Given the description of an element on the screen output the (x, y) to click on. 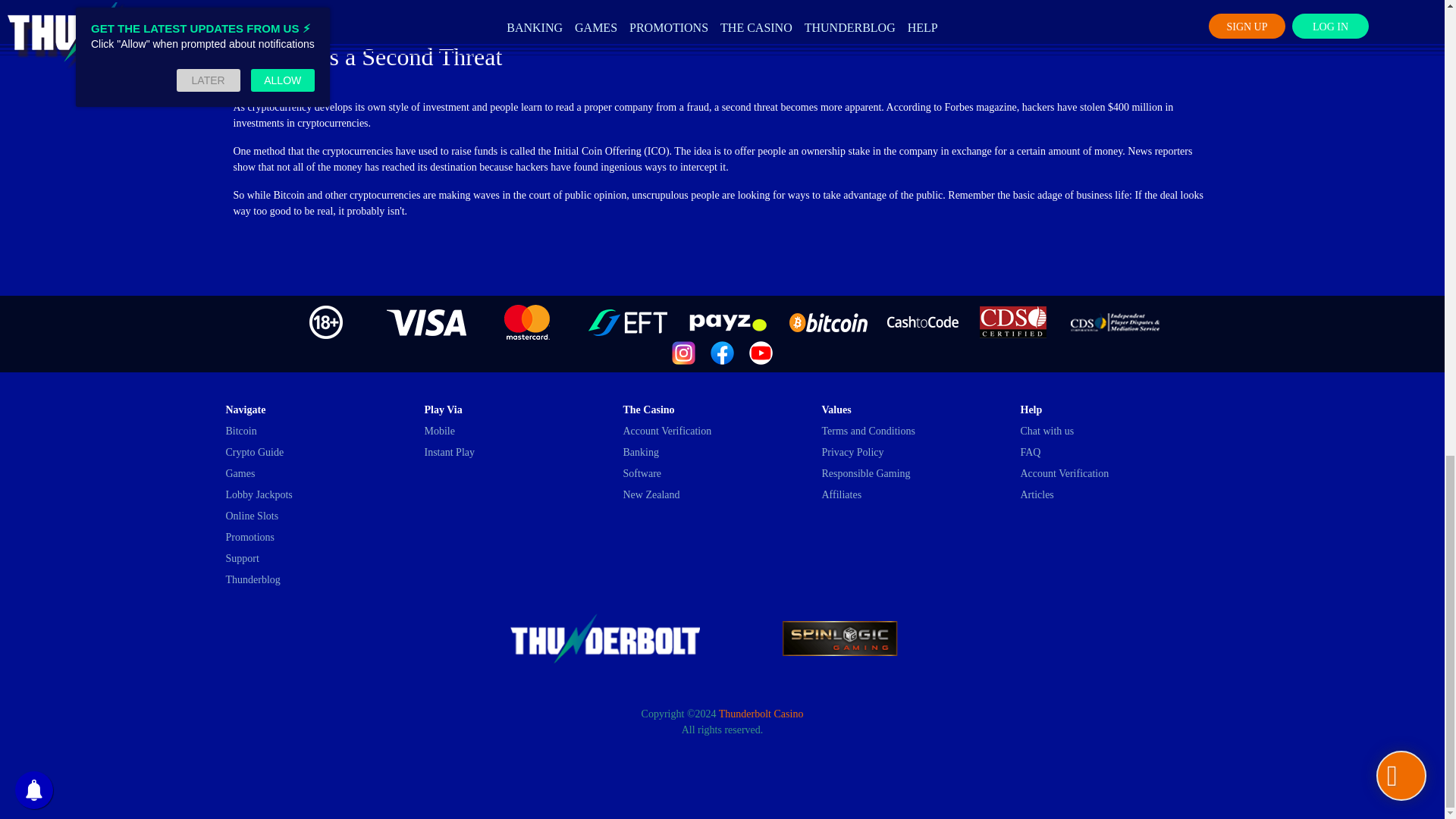
Lobby Jackpots (258, 494)
Games (240, 473)
Mobile (439, 430)
Crypto Guide (254, 451)
Thunderbolt Casino (761, 713)
Thunderblog (253, 579)
Online Slots (252, 515)
Support (242, 558)
